Given the description of an element on the screen output the (x, y) to click on. 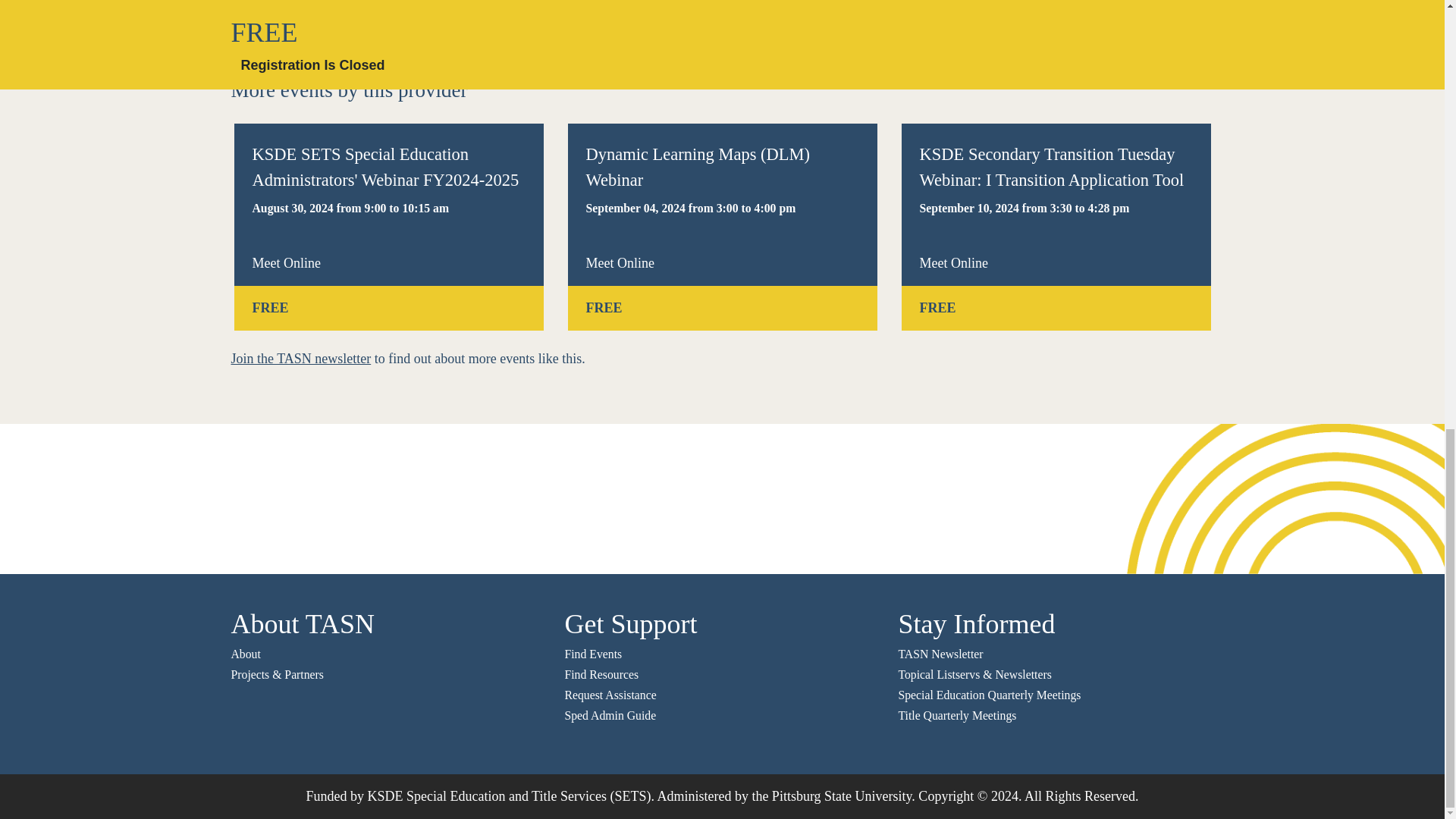
TASN Newsletter (940, 653)
Join the TASN newsletter (300, 358)
Find Events (592, 653)
Title Quarterly Meetings (957, 715)
About (245, 653)
Find Resources (601, 674)
Request Assistance (610, 694)
Sped Admin Guide (610, 715)
